Given the description of an element on the screen output the (x, y) to click on. 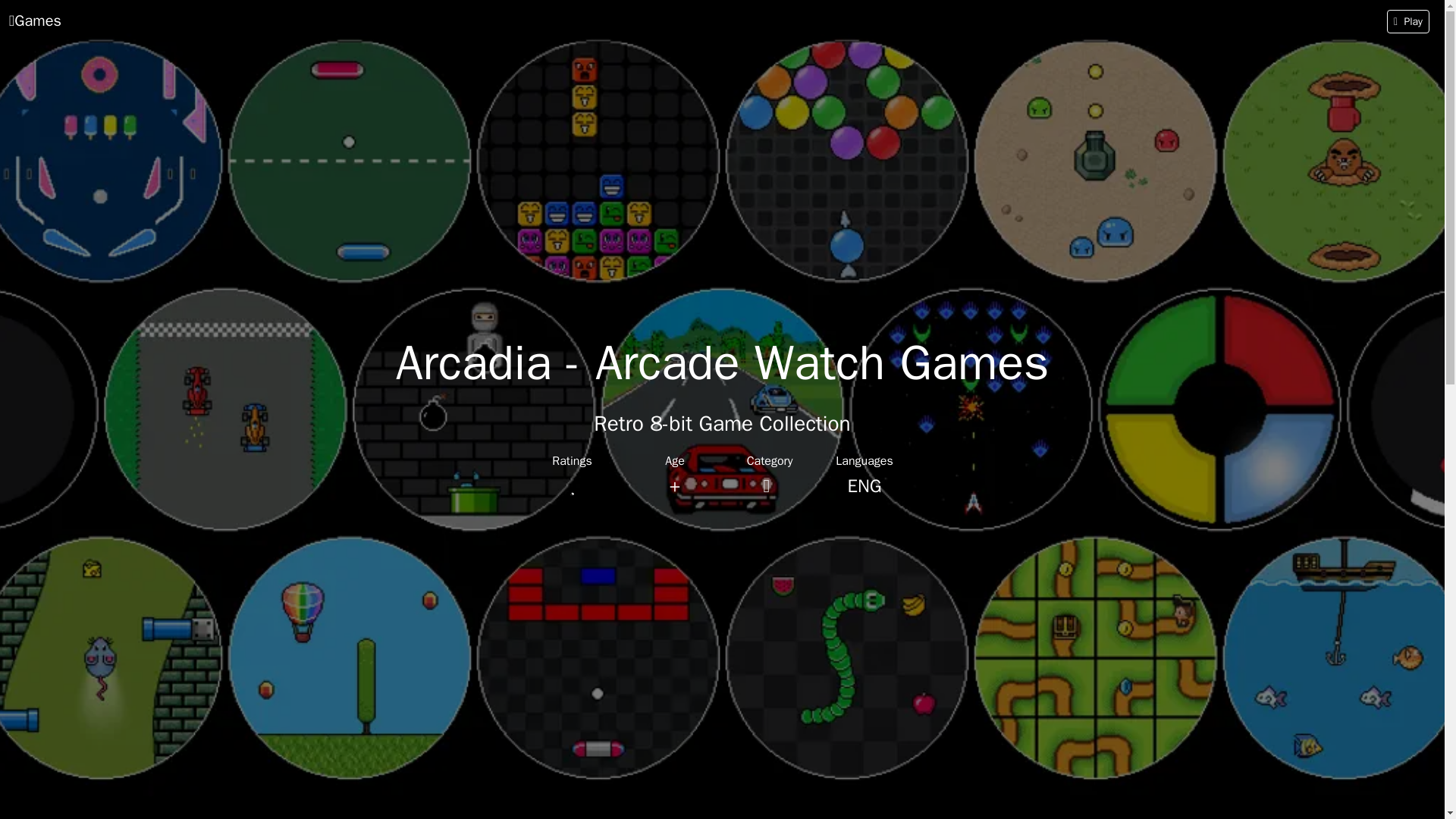
Play (1408, 20)
Logo (905, 806)
Home (34, 20)
